Given the description of an element on the screen output the (x, y) to click on. 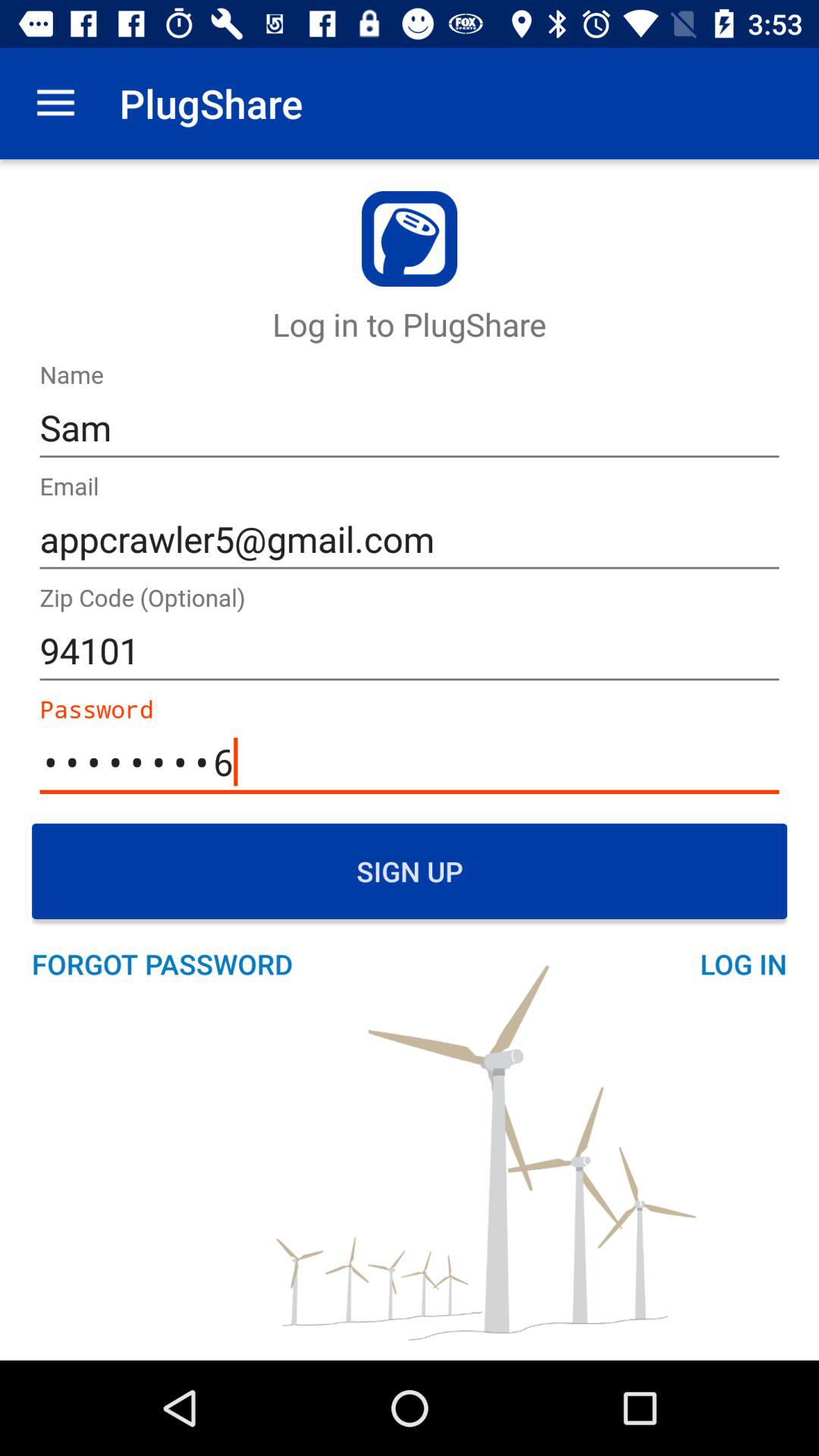
jump to the crowd3116 (409, 762)
